Given the description of an element on the screen output the (x, y) to click on. 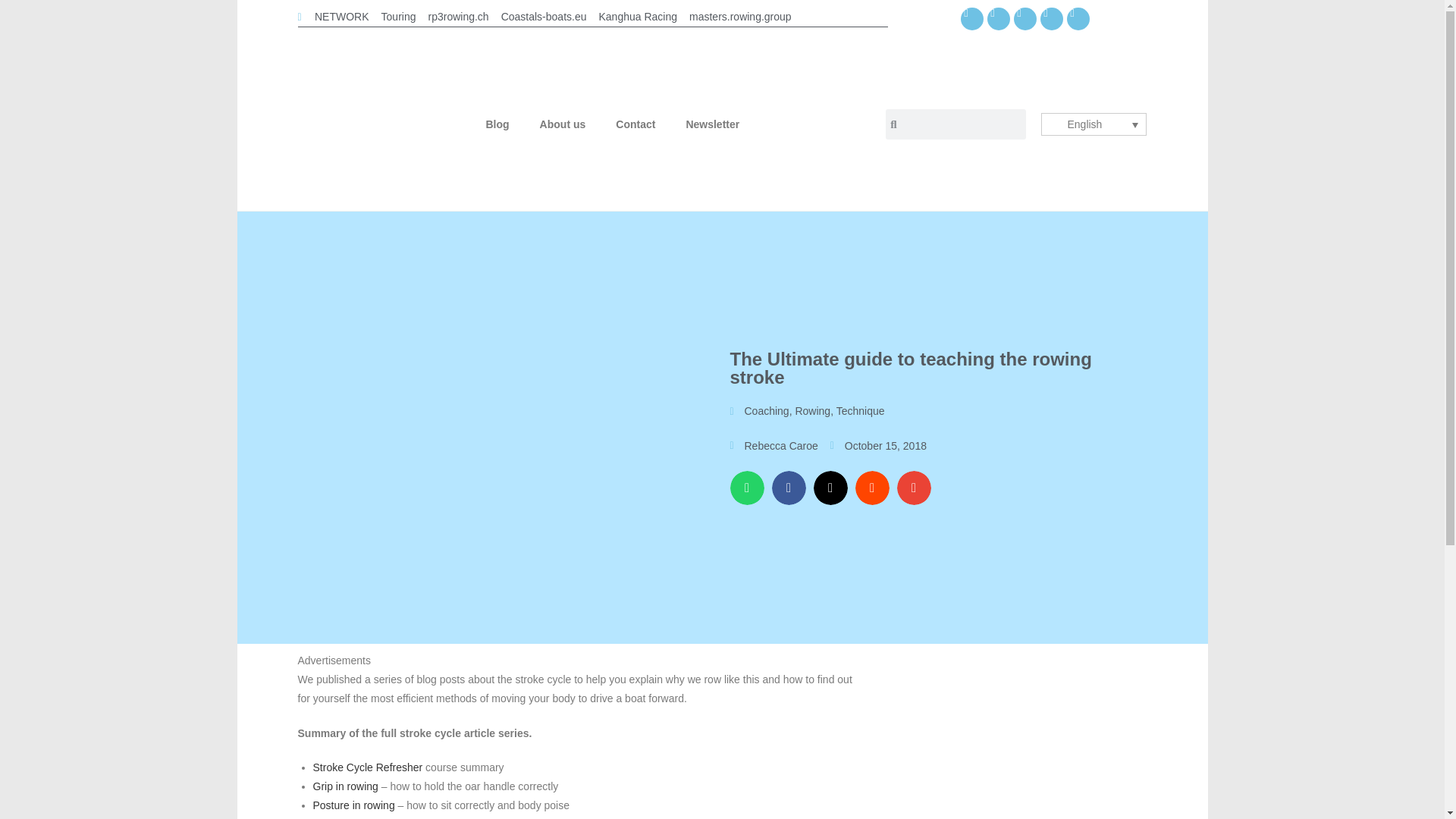
Coaching (766, 410)
rp3rowing.ch (457, 16)
masters.rowing.group (740, 16)
October 15, 2018 (877, 445)
Contact (634, 124)
Blog (497, 124)
Touring (398, 16)
Rowing (811, 410)
Posture in rowing (353, 805)
Stroke Cycle Refresher (369, 767)
Newsletter (711, 124)
Technique (860, 410)
Rebecca Caroe (772, 445)
English (1094, 124)
